Given the description of an element on the screen output the (x, y) to click on. 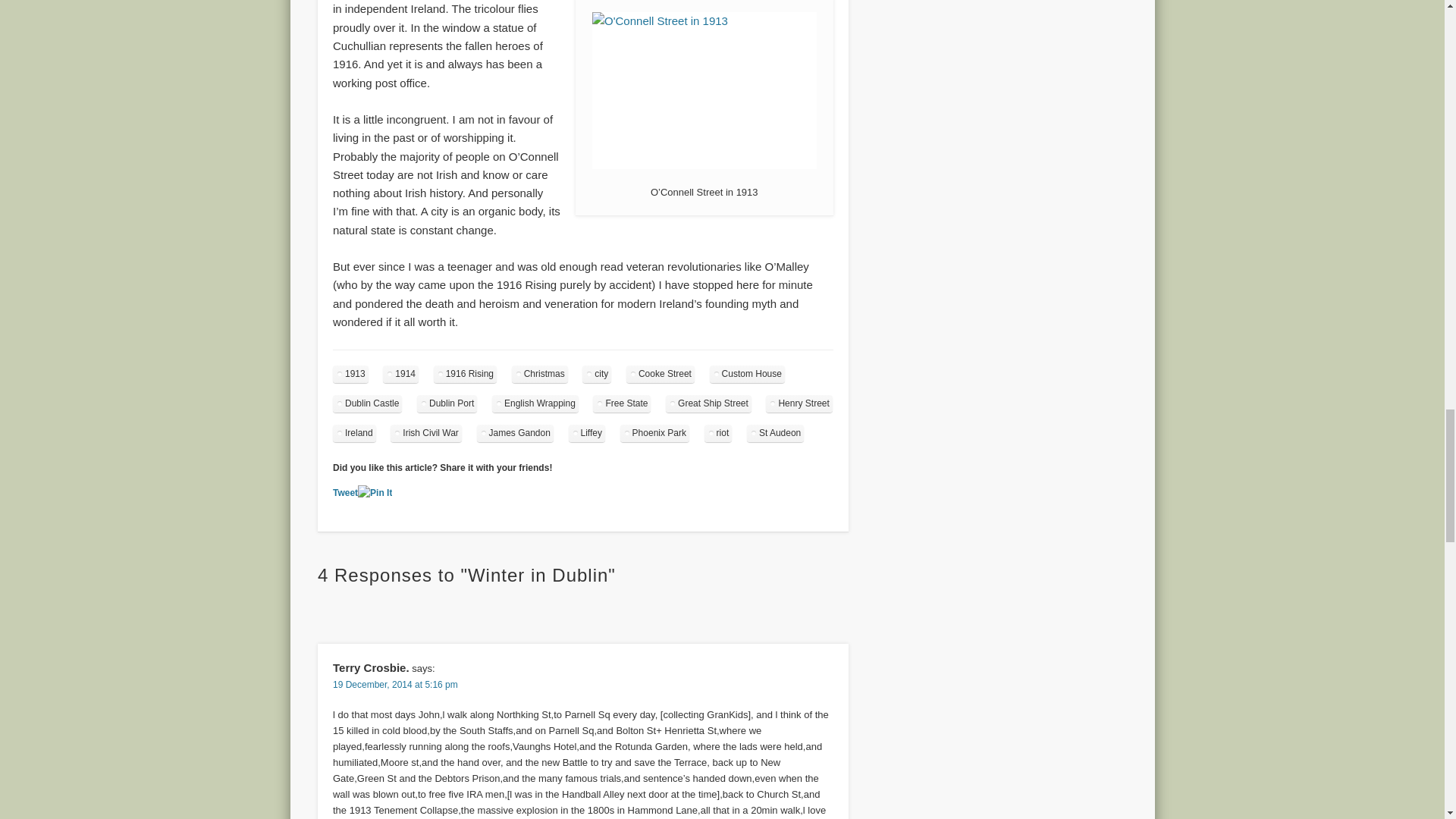
Custom House (747, 374)
Dublin Port (446, 403)
Cooke Street (660, 374)
English Wrapping (535, 403)
city (596, 374)
1916 Rising (464, 374)
Christmas (539, 374)
Pin It (374, 493)
1913 (350, 374)
1914 (400, 374)
